Given the description of an element on the screen output the (x, y) to click on. 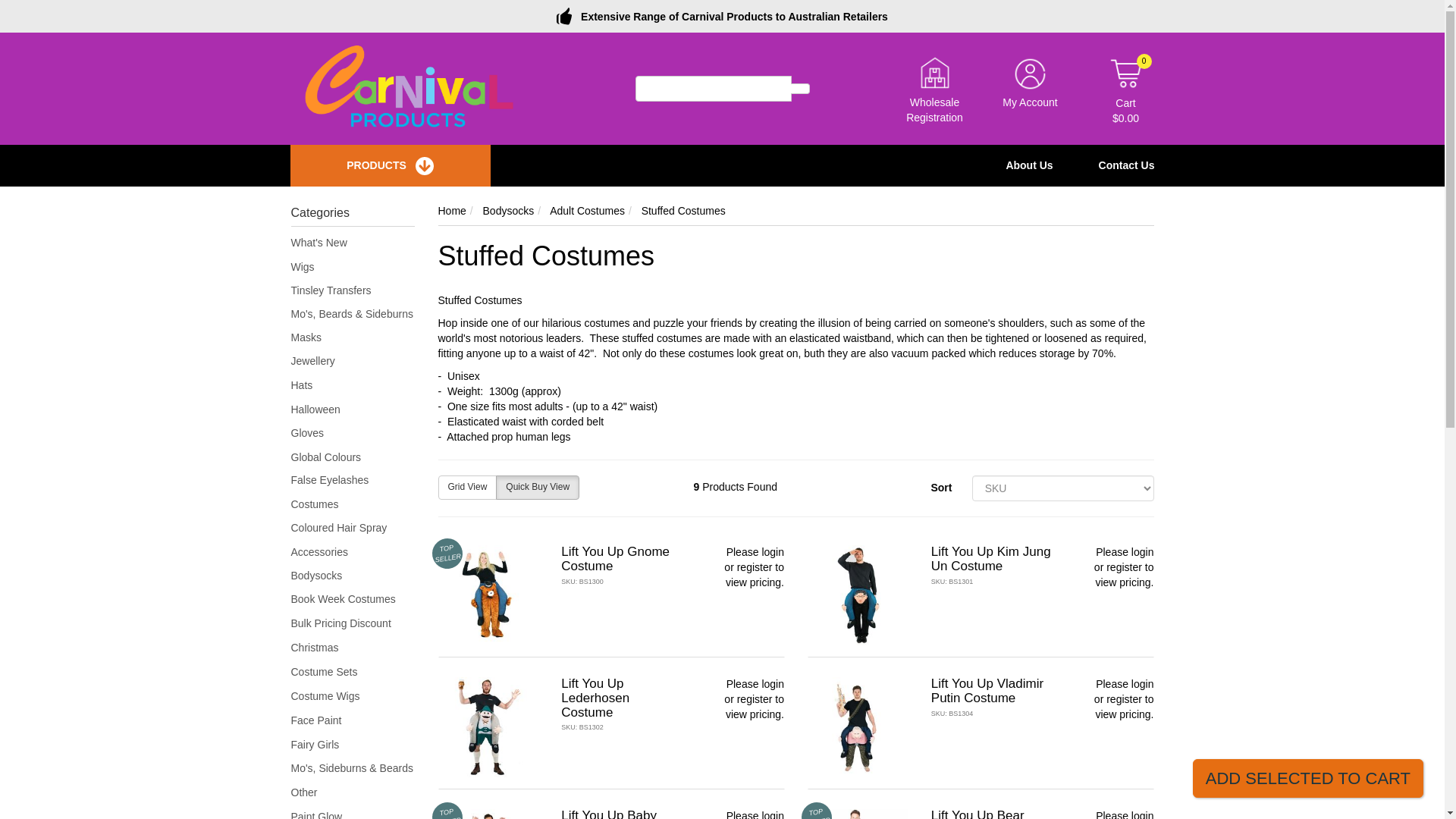
Lift You Up  Bear Costume (978, 813)
Carnival Products (409, 87)
 Lift You Up  Gnome Costume (614, 558)
 Lift You Up  Kim Jung Un Costume (991, 558)
Lift You Up  Baby Costume (608, 813)
 Lift You Up  Vladimir Putin Costume (987, 690)
 Lift You Up  Lederhosen Costume (594, 697)
